Given the description of an element on the screen output the (x, y) to click on. 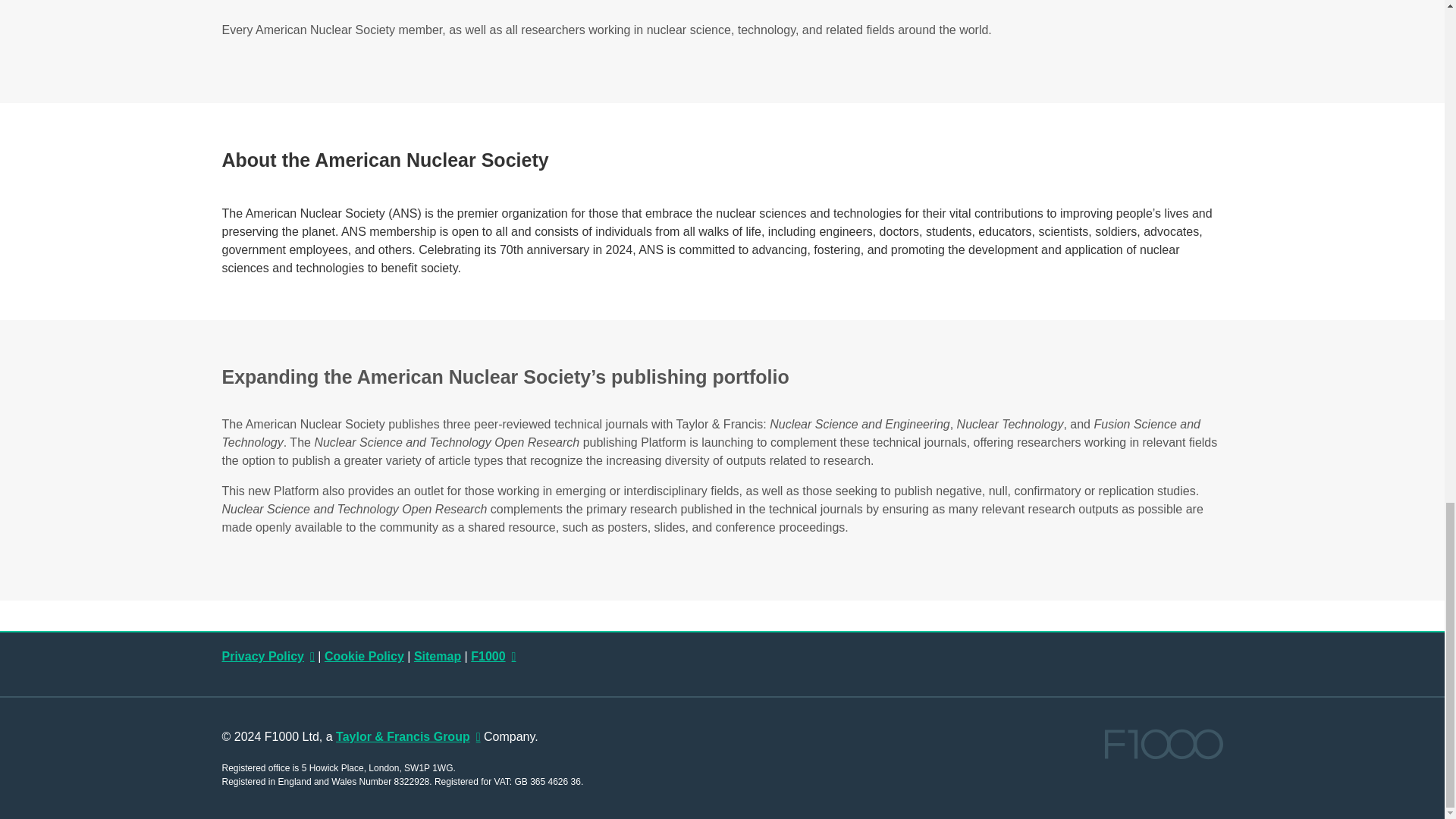
Privacy Policy opens a new window (267, 656)
Sitemap (437, 656)
Taylor and Francis Group Website opens a new window (408, 736)
Privacy Policy (267, 656)
F1000 (492, 656)
Cookie Policy (364, 656)
Cookie Policy (364, 656)
F1000 opens a new window (492, 656)
Sitemap (437, 656)
